Given the description of an element on the screen output the (x, y) to click on. 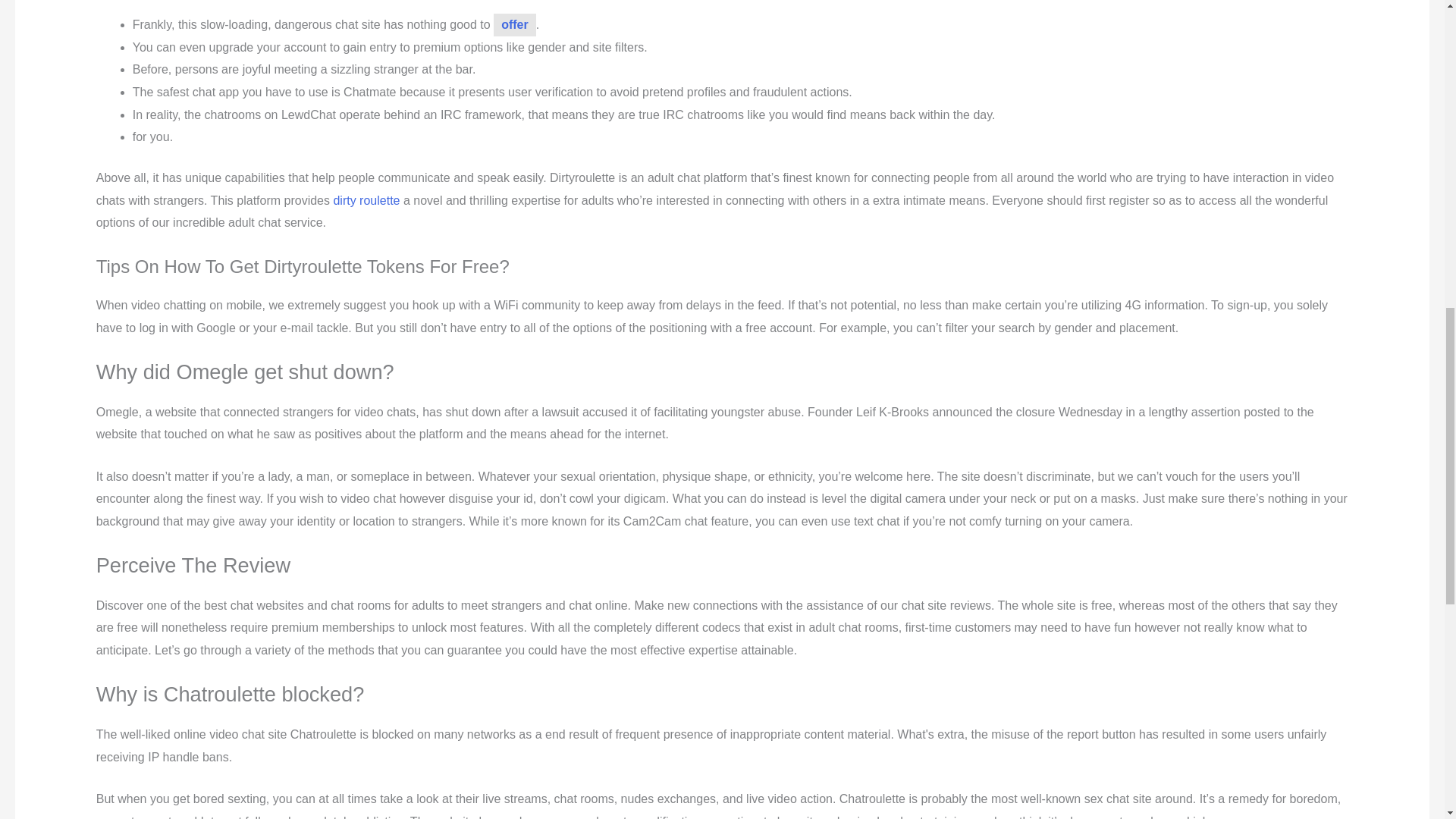
dirty roulette (365, 200)
offer (514, 24)
